Given the description of an element on the screen output the (x, y) to click on. 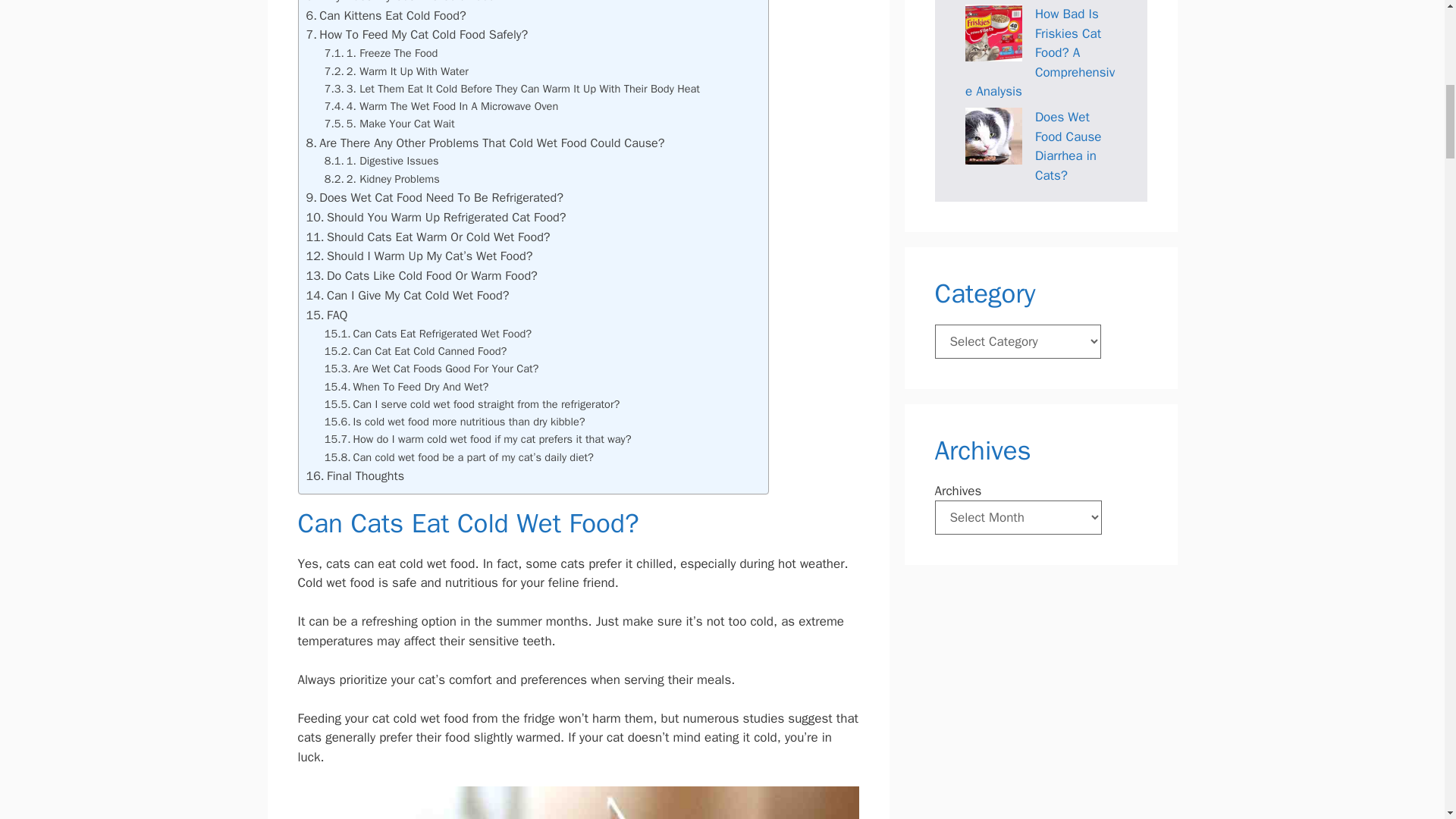
How To Feed My Cat Cold Food Safely? (416, 35)
4. Warm The Wet Food In A Microwave Oven (441, 106)
Why Does My Cat Like Cold Food? (403, 2)
Are There Any Other Problems That Cold Wet Food Could Cause? (485, 143)
2. Warm It Up With Water (396, 71)
1. Freeze The Food (381, 53)
5. Make Your Cat Wait (389, 123)
Can Kittens Eat Cold Food? (385, 15)
Why Does My Cat Like Cold Food? (403, 2)
